Given the description of an element on the screen output the (x, y) to click on. 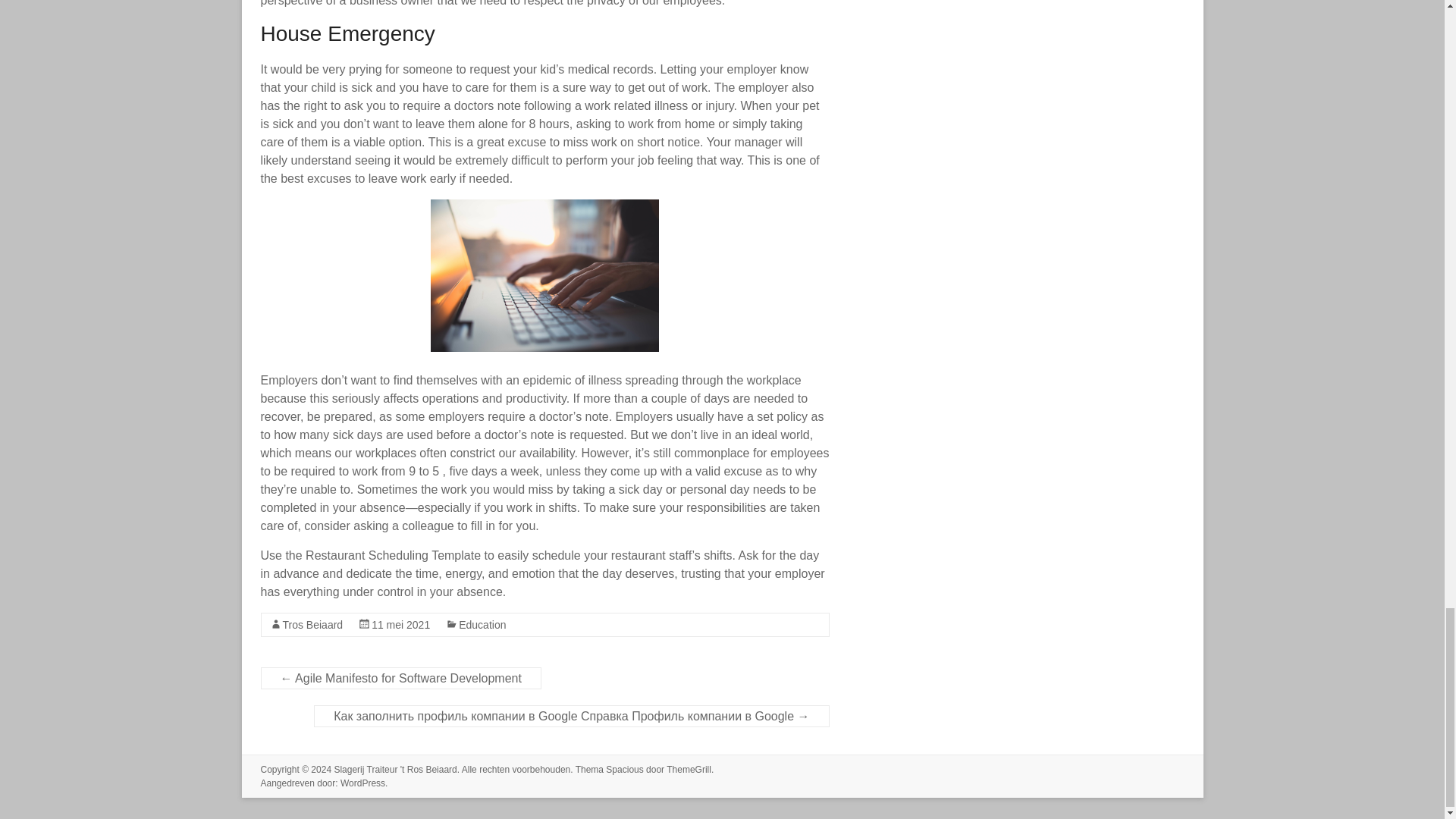
WordPress (362, 783)
Spacious (624, 769)
Education (481, 624)
11 mei 2021 (400, 624)
Spacious (624, 769)
Slagerij Traiteur 't Ros Beiaard (395, 769)
WordPress (362, 783)
Slagerij Traiteur 't Ros Beiaard (395, 769)
Tros Beiaard (312, 624)
12:38 (400, 624)
